Given the description of an element on the screen output the (x, y) to click on. 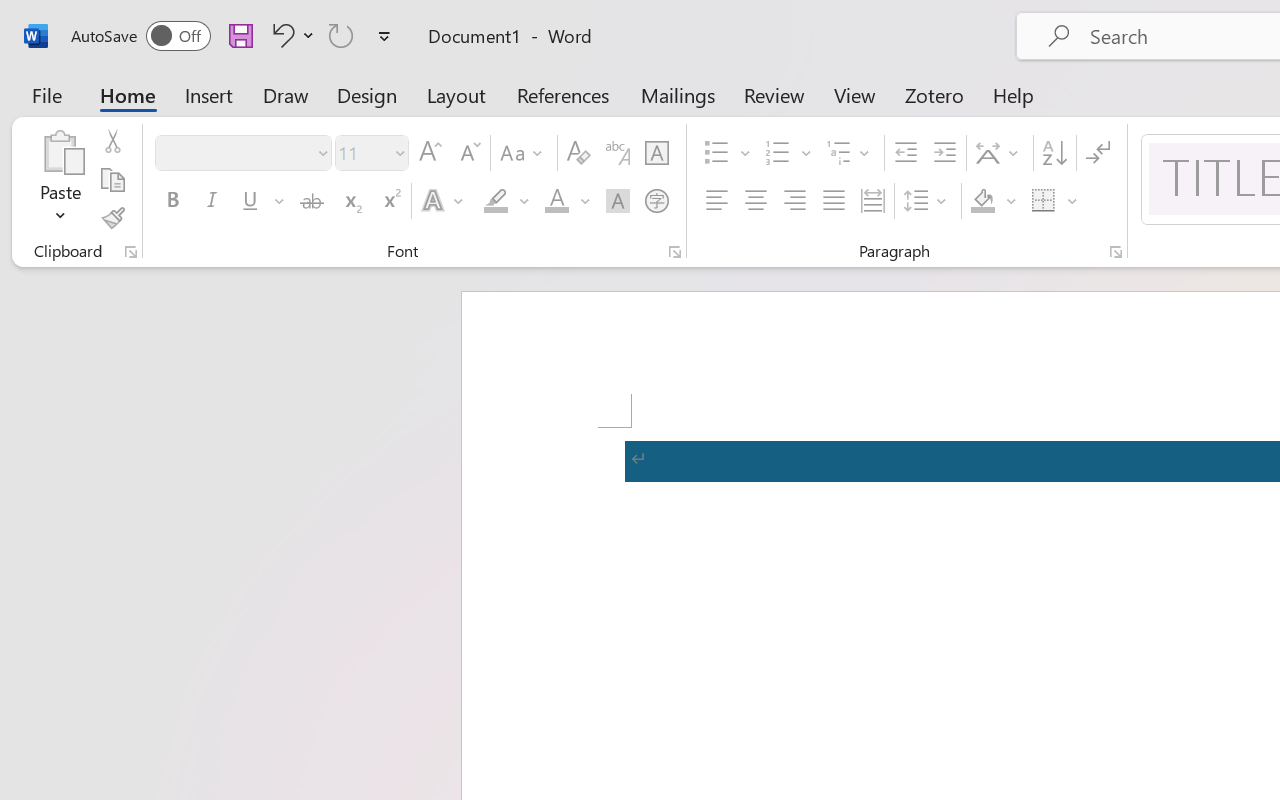
Can't Repeat (341, 35)
Text Highlight Color RGB(255, 255, 0) (495, 201)
